Given the description of an element on the screen output the (x, y) to click on. 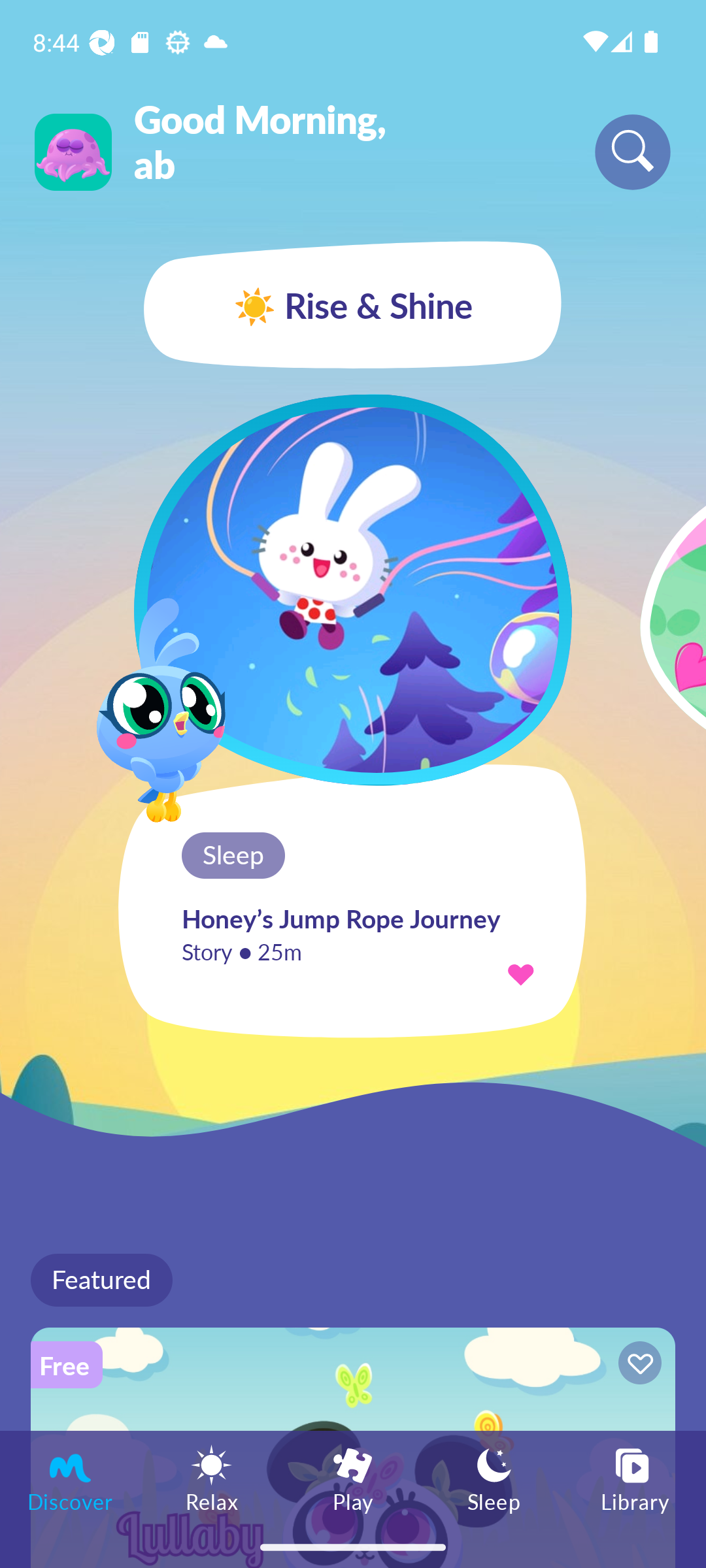
Search (632, 151)
action (520, 973)
Button (636, 1365)
Relax (211, 1478)
Play (352, 1478)
Sleep (493, 1478)
Library (635, 1478)
